Given the description of an element on the screen output the (x, y) to click on. 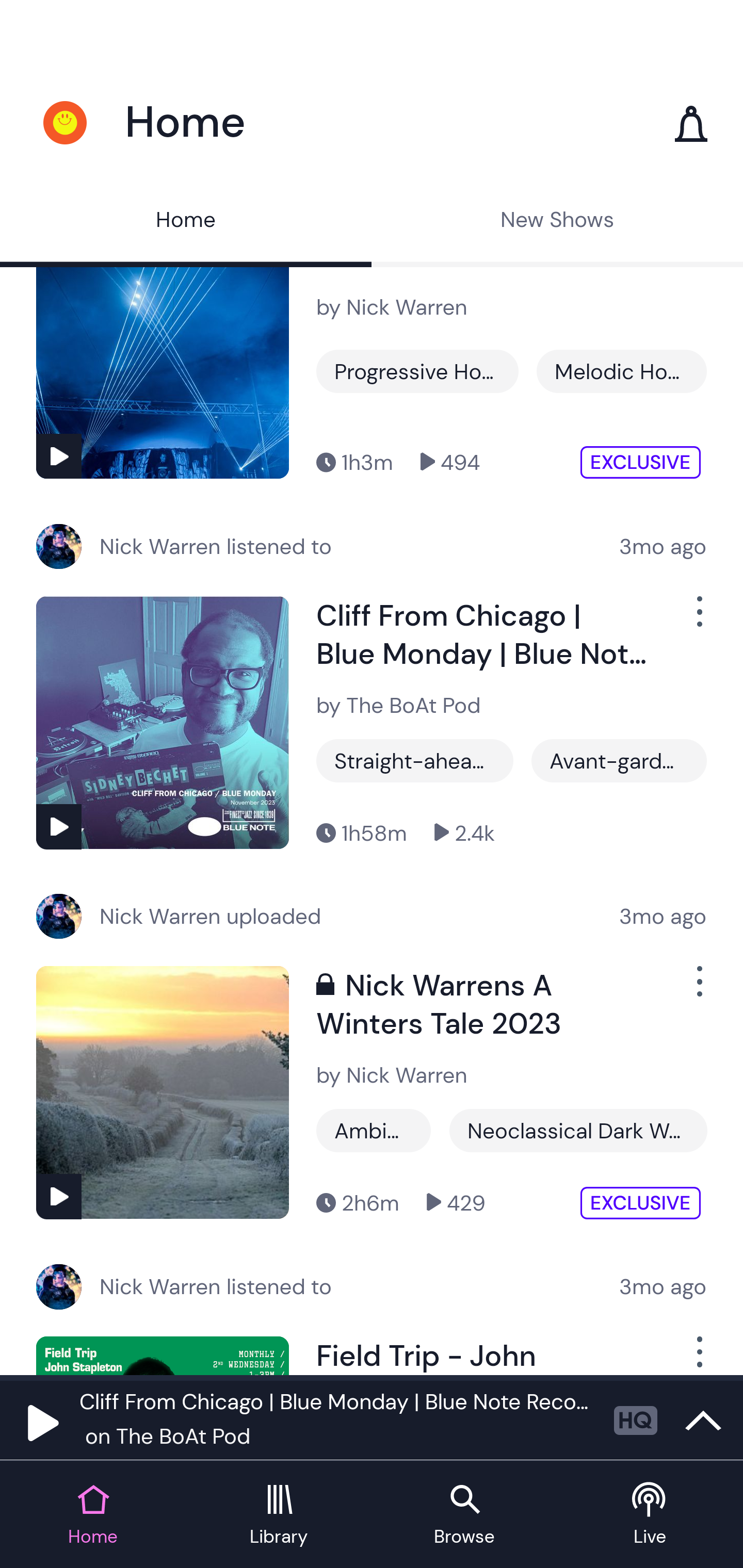
Home (185, 221)
New Shows (557, 221)
Progressive House (417, 371)
Melodic House (621, 371)
Show Options Menu Button (697, 618)
Straight-ahead Jazz (414, 760)
Avant-garde Jazz (618, 760)
Show Options Menu Button (697, 988)
Ambient (373, 1130)
Neoclassical Dark Wave (577, 1130)
Show Options Menu Button (697, 1355)
Home tab Home (92, 1515)
Library tab Library (278, 1515)
Browse tab Browse (464, 1515)
Live tab Live (650, 1515)
